Given the description of an element on the screen output the (x, y) to click on. 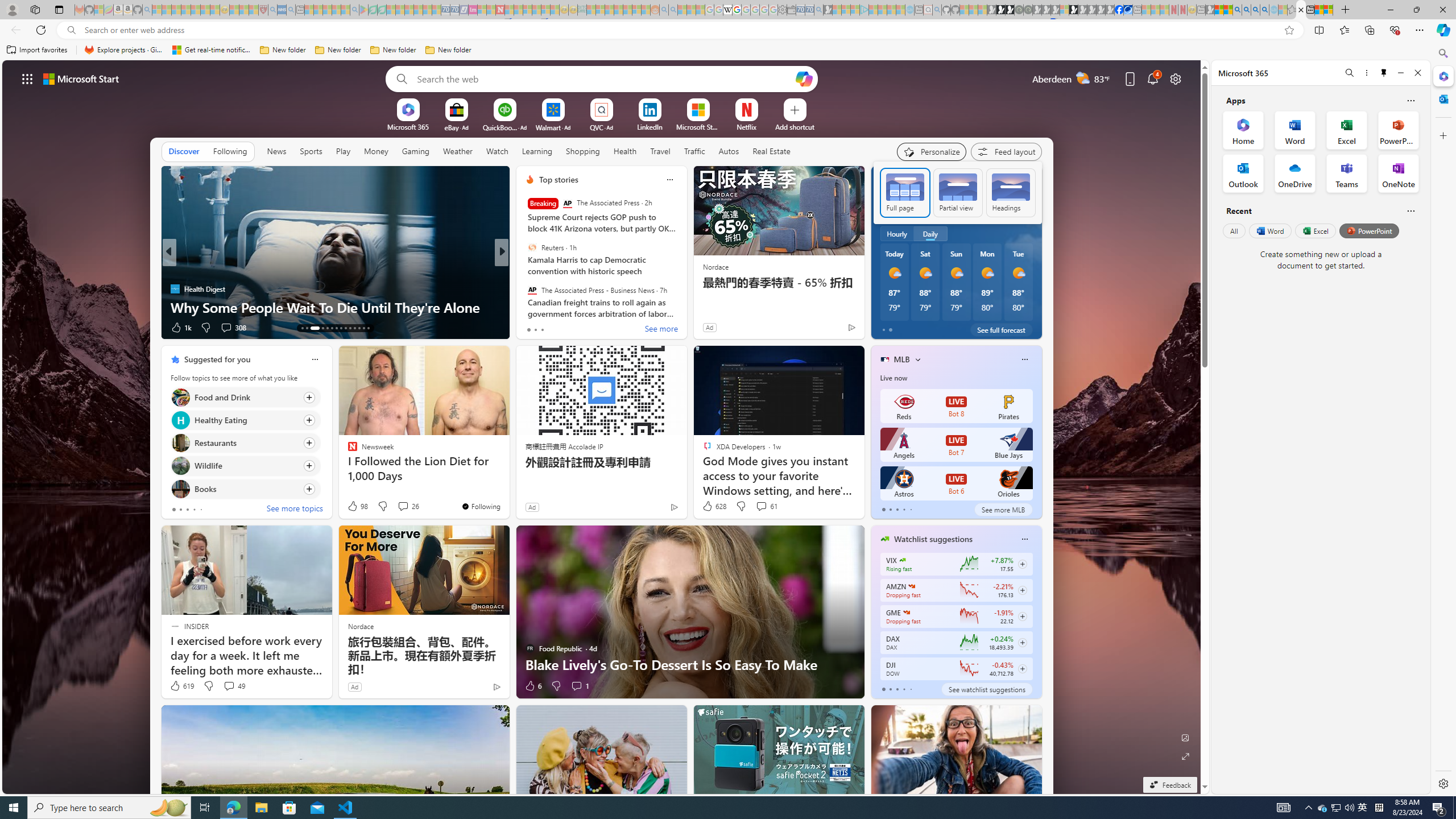
AutomationID: tab-19 (336, 328)
View comments 6 Comment (576, 327)
Latest Politics News & Archive | Newsweek.com - Sleeping (499, 9)
Home | Sky Blue Bikes - Sky Blue Bikes - Sleeping (908, 9)
View comments 1 Comment (580, 685)
AutomationID: tab-13 (301, 328)
Search icon (70, 29)
Class: icon-img (1024, 538)
Astros LIVE Bot 6 Orioles (955, 483)
